Given the description of an element on the screen output the (x, y) to click on. 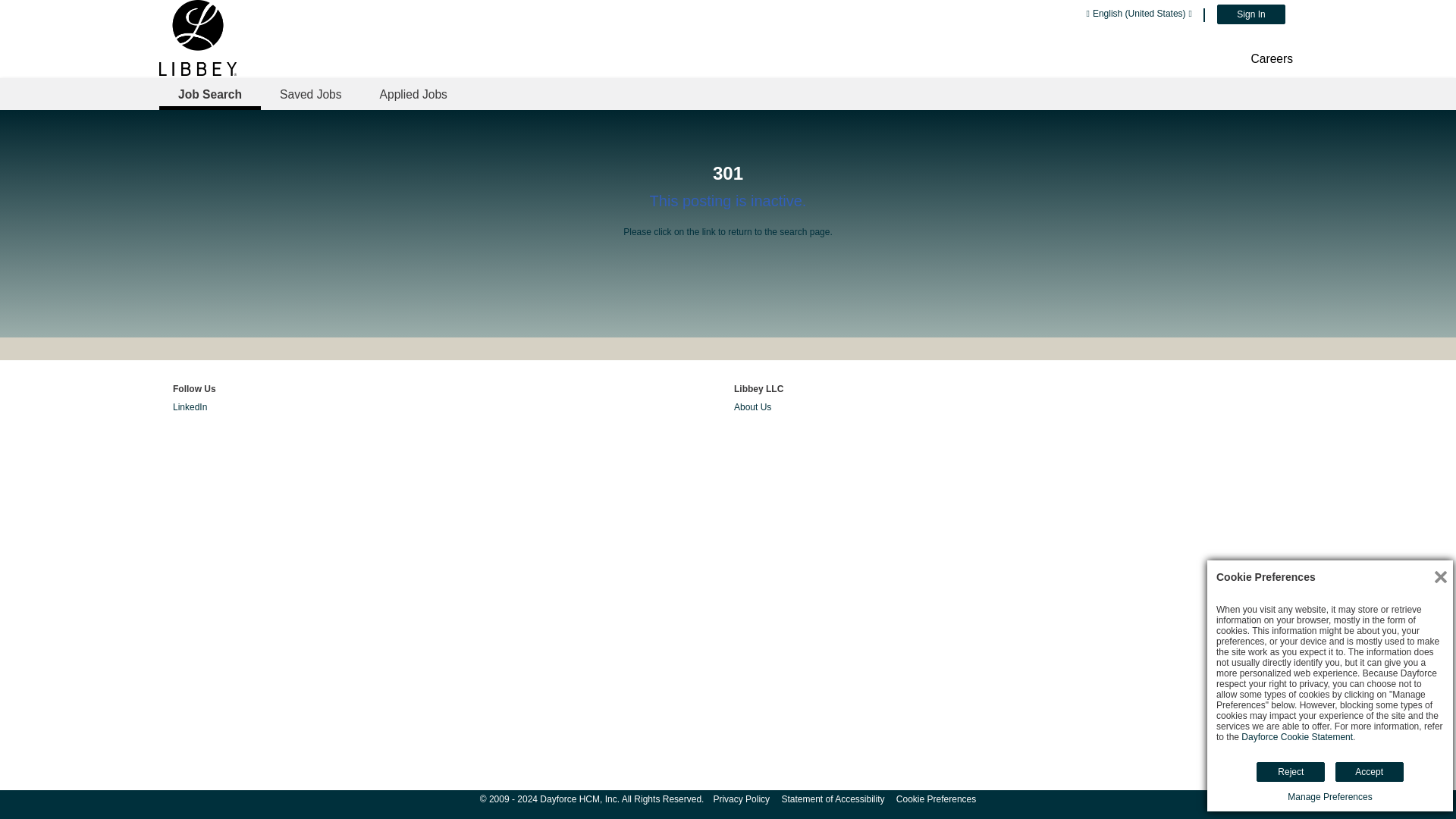
Reject (1290, 772)
Dayforce Cookie Statement (1296, 737)
LinkedIn (189, 407)
Job Search (209, 93)
Privacy Policy (741, 798)
Please click on the link to return to the search page. (727, 231)
Manage Preferences (1329, 796)
Accept (1369, 772)
About Us (752, 407)
Applied Jobs (413, 93)
About Us  (752, 407)
Sign In (1251, 14)
Cookie Preferences (935, 798)
LinkedIn (189, 407)
Careers (1271, 58)
